Given the description of an element on the screen output the (x, y) to click on. 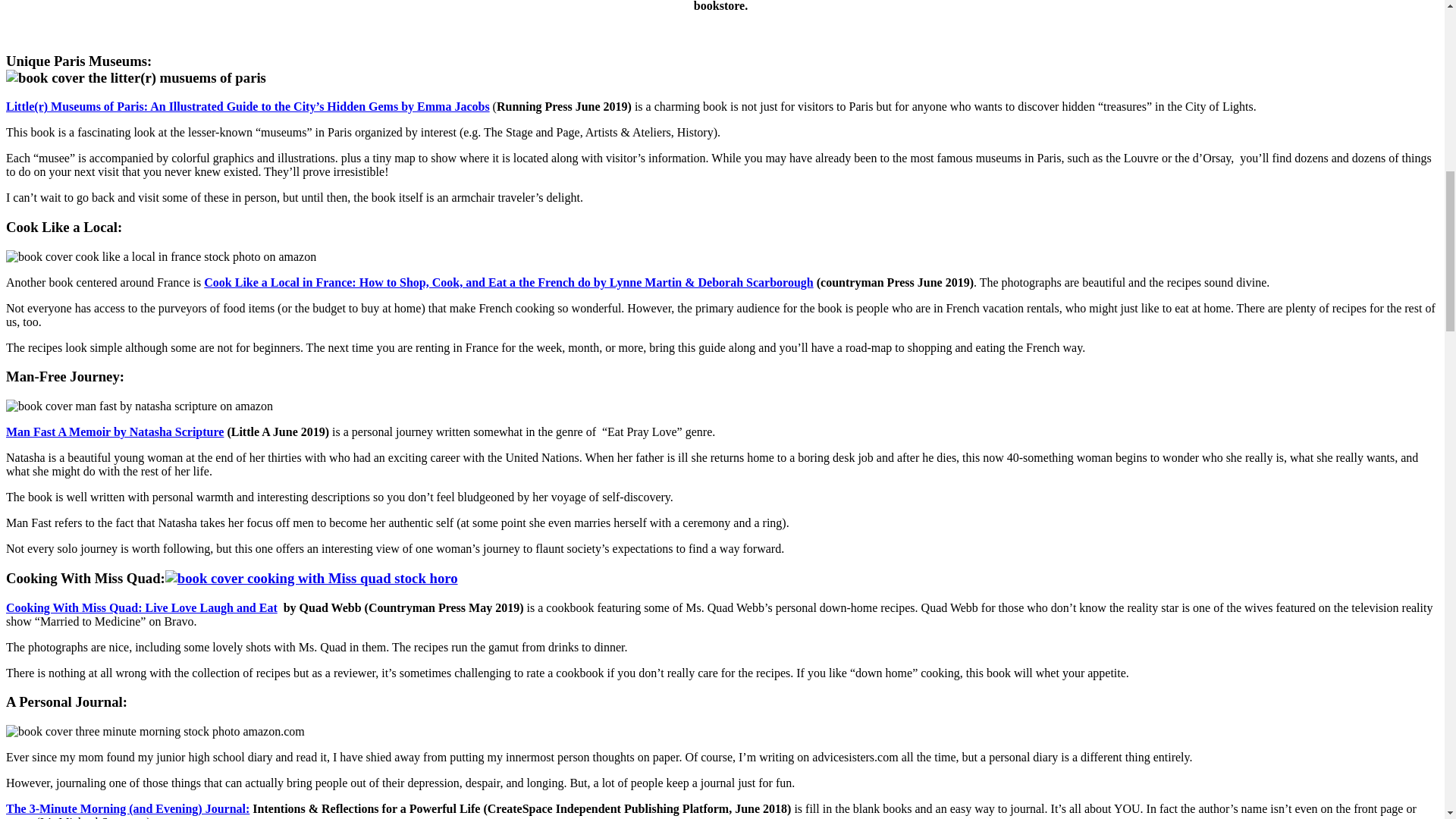
Man Fast A Memoir by Natasha Scripture on amazon (114, 431)
3 minute morning journal on amazon.com (126, 808)
Little r musuems of paris book on amazon.com (247, 106)
